Given the description of an element on the screen output the (x, y) to click on. 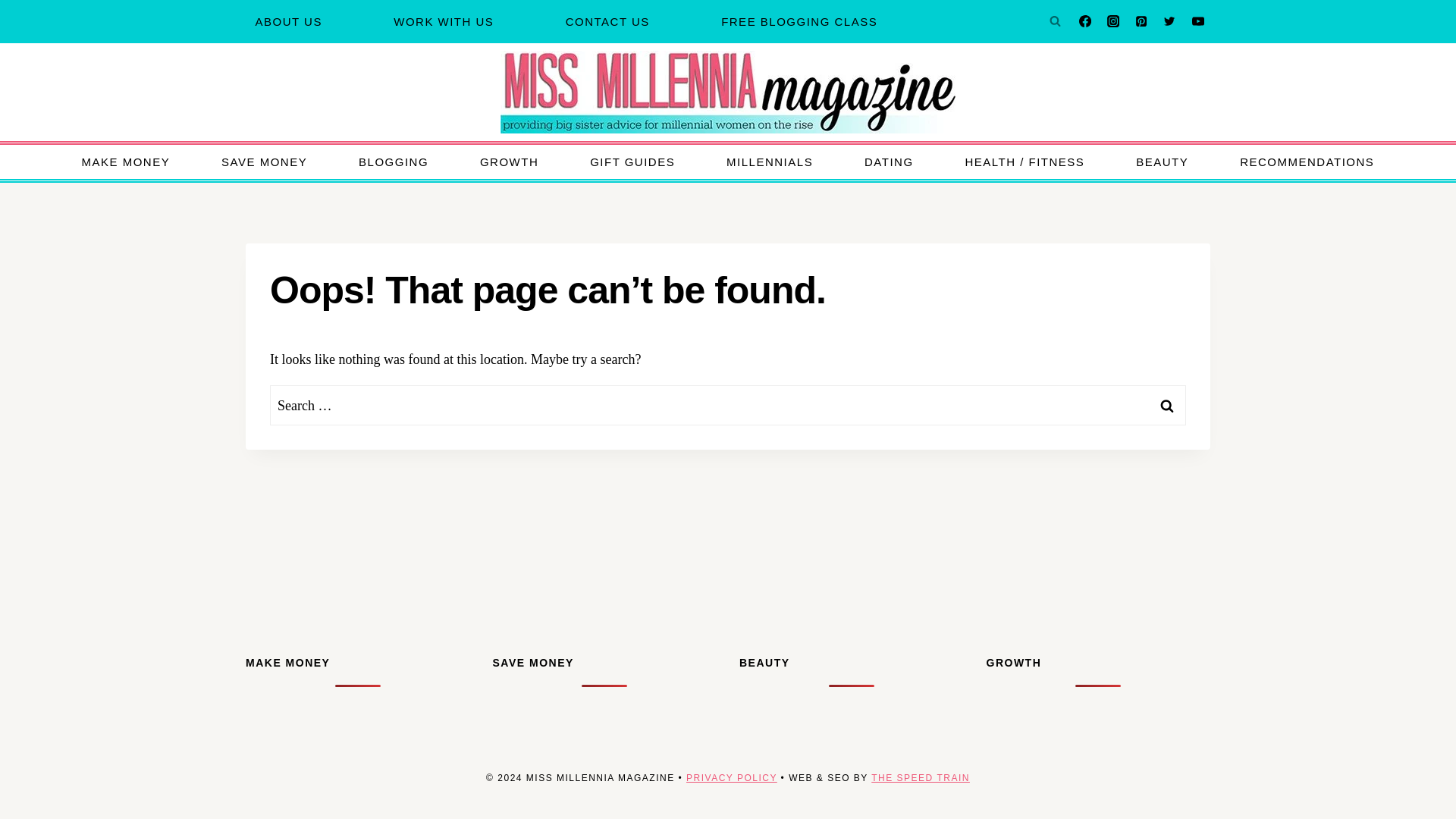
ABOUT US (288, 21)
PRIVACY POLICY (731, 777)
RECOMMENDATIONS (1307, 161)
BLOGGING (393, 161)
Search (1167, 404)
Search (1167, 404)
BEAUTY (1162, 161)
MAKE MONEY (125, 161)
GROWTH (508, 161)
WORK WITH US (443, 21)
GIFT GUIDES (633, 161)
CONTACT US (607, 21)
MILLENNIALS (769, 161)
The Speed Train (919, 777)
Search (1167, 404)
